Given the description of an element on the screen output the (x, y) to click on. 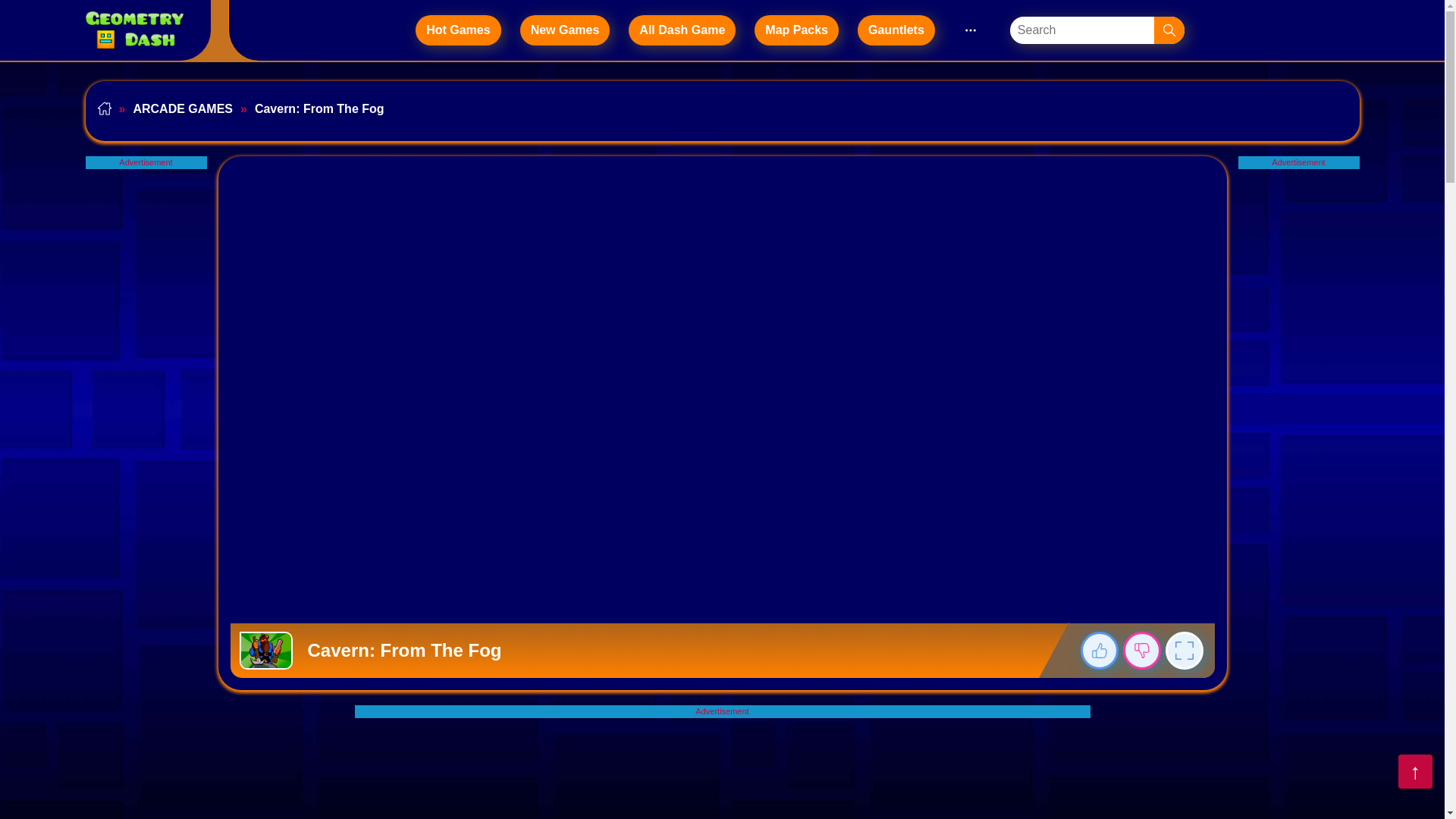
ARCADE GAMES (170, 110)
Geometry Dash (133, 30)
All Dash Game (681, 30)
Map Packs (796, 30)
Gauntlets (895, 30)
Gauntlets (895, 30)
list-menu (969, 29)
All Dash Game (681, 30)
Geometry Dash (135, 30)
Map Packs (796, 30)
